Given the description of an element on the screen output the (x, y) to click on. 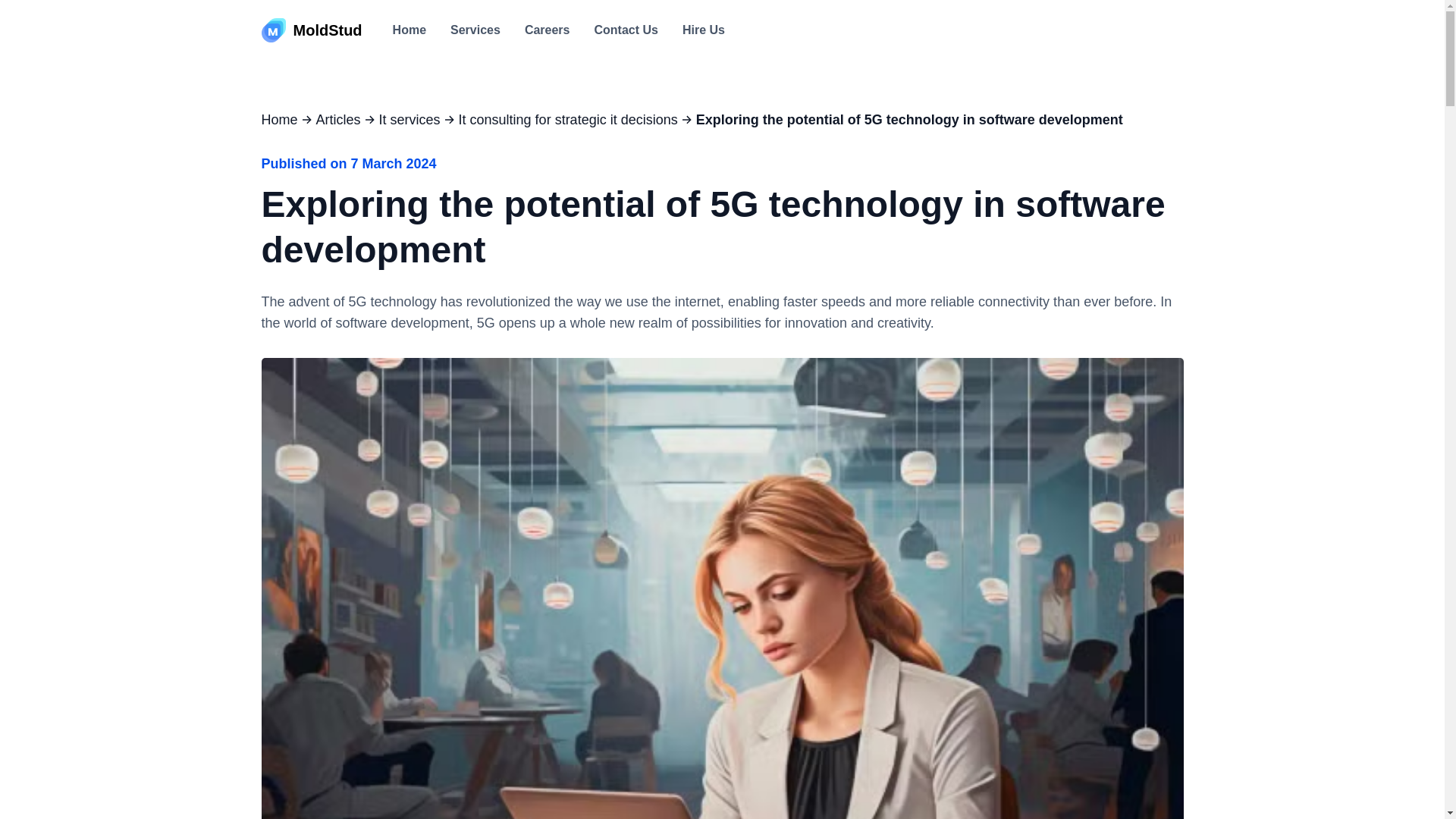
Careers (547, 29)
It consulting for strategic it decisions (568, 119)
It services (409, 119)
MoldStud (310, 30)
Services (474, 29)
Articles (338, 119)
Services (474, 29)
Contact Us (626, 29)
Hire Us (703, 29)
Hire Us (703, 29)
Contact Us (626, 29)
Home (409, 29)
Home (409, 29)
Home (278, 119)
Careers (547, 29)
